Given the description of an element on the screen output the (x, y) to click on. 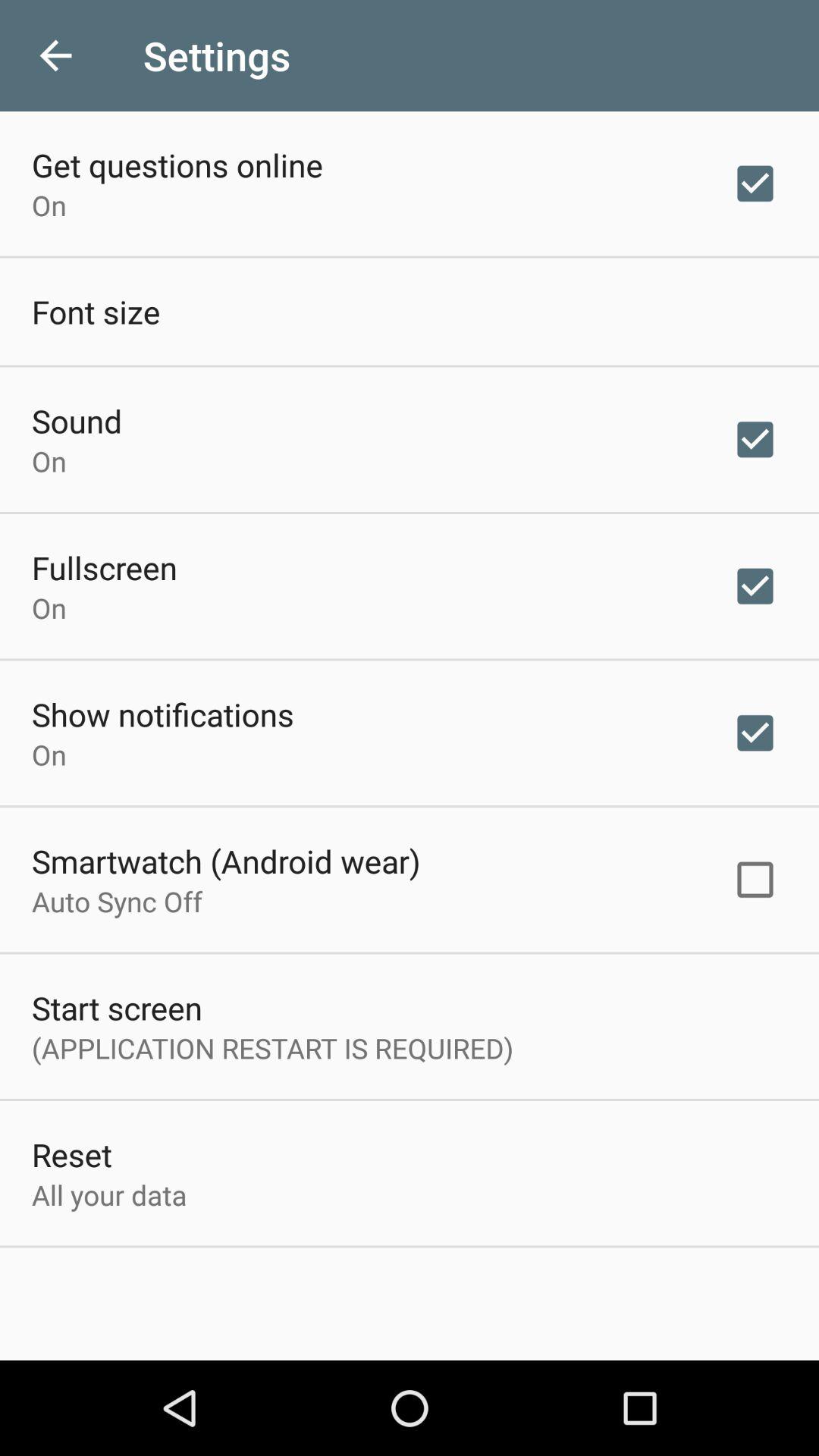
select the tick mark in the 5th row (755, 733)
